Given the description of an element on the screen output the (x, y) to click on. 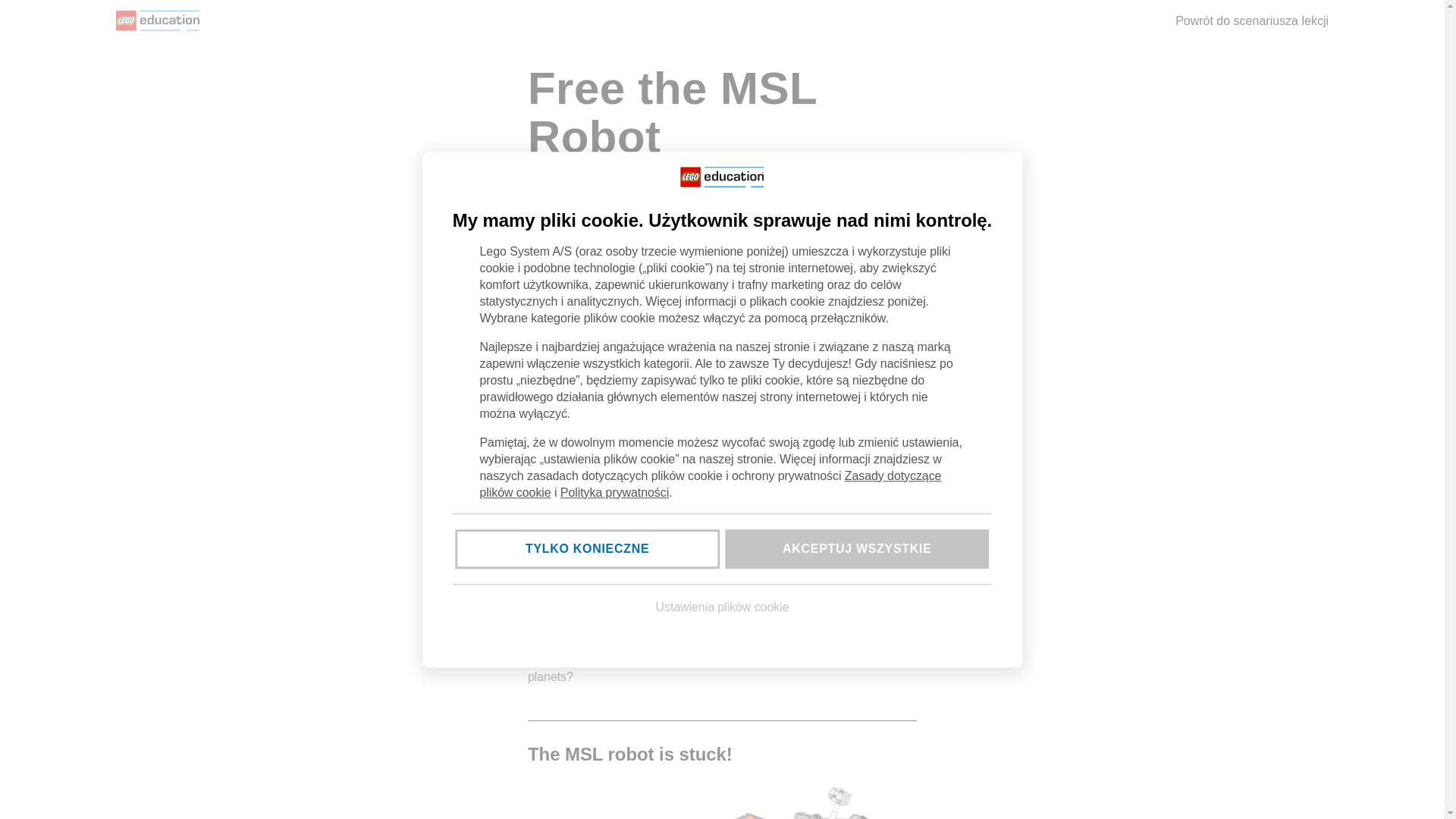
TYLKO KONIECZNE (586, 548)
AKCEPTUJ WSZYSTKIE (857, 548)
